Given the description of an element on the screen output the (x, y) to click on. 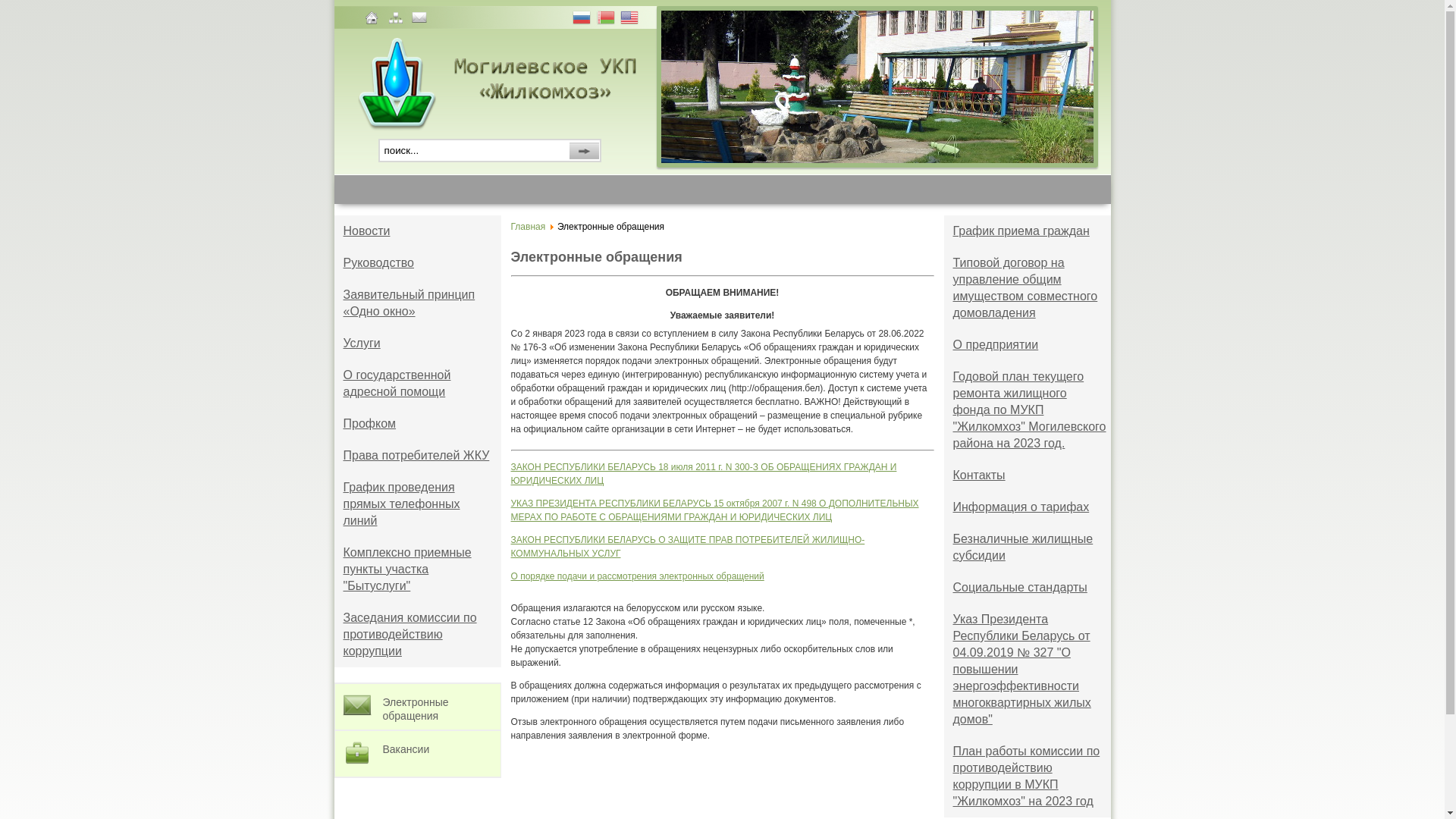
Belarusian Element type: hover (606, 19)
English Element type: hover (630, 19)
Russian Element type: hover (582, 19)
